Given the description of an element on the screen output the (x, y) to click on. 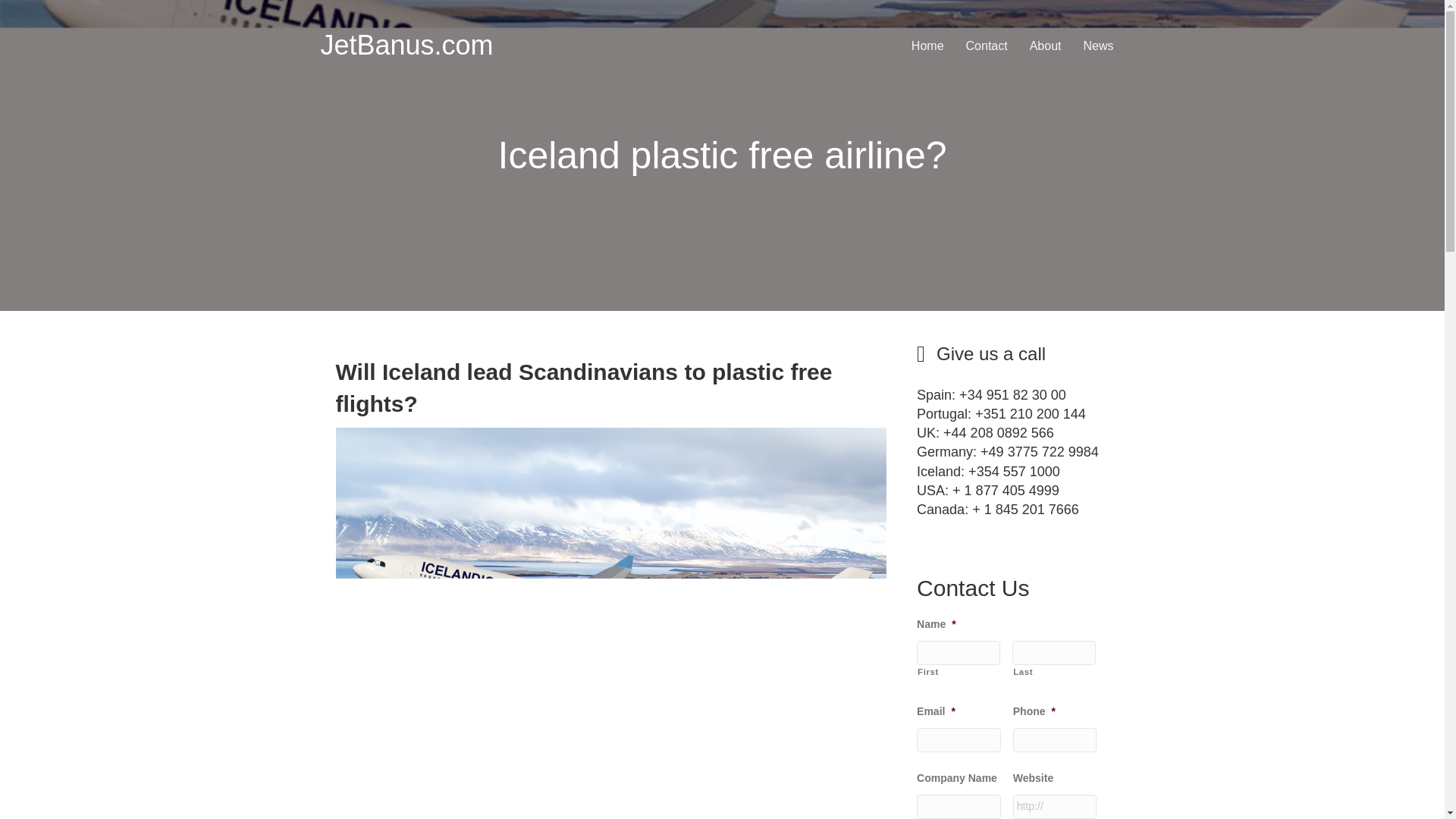
News (1097, 45)
Contact (986, 45)
JetBanus.com (406, 44)
Home (928, 45)
JetBanus.com (406, 44)
About (1045, 45)
